Given the description of an element on the screen output the (x, y) to click on. 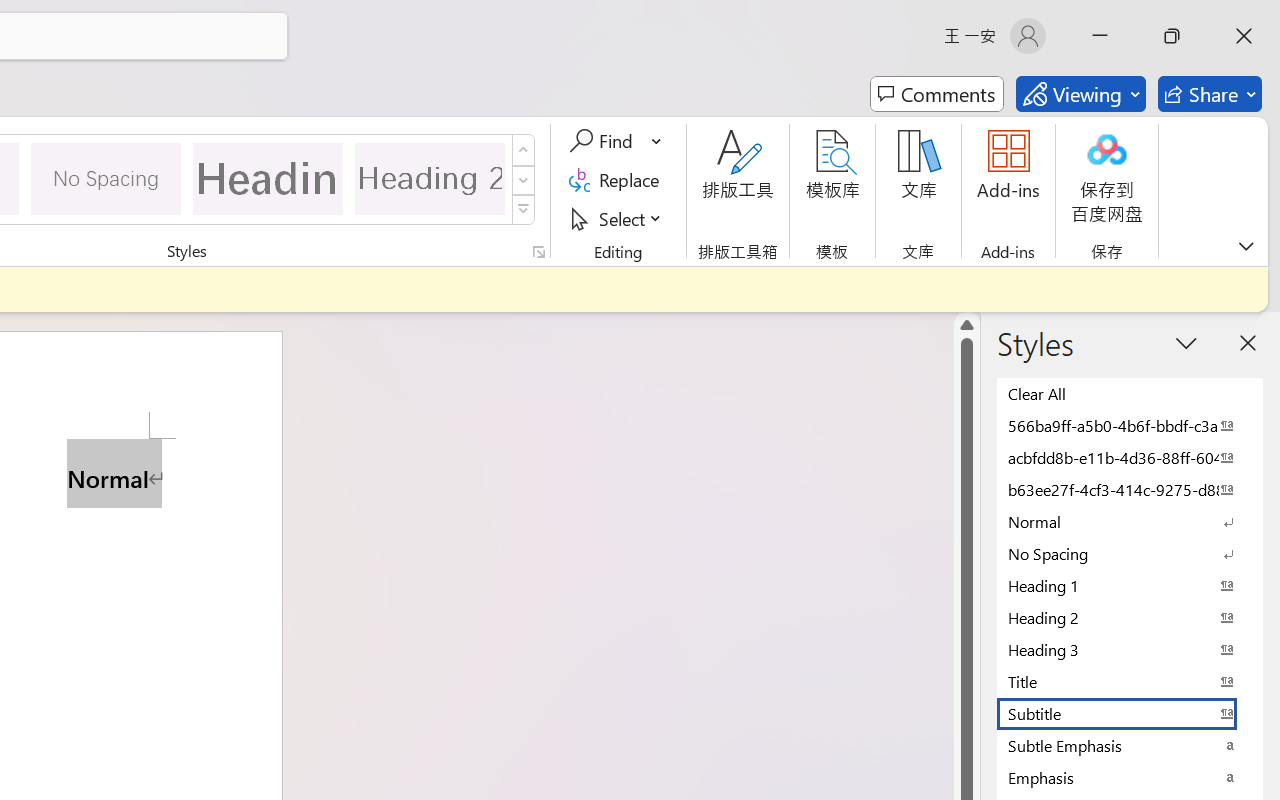
b63ee27f-4cf3-414c-9275-d88e3f90795e (1130, 489)
Clear All (1130, 393)
Ribbon Display Options (1246, 245)
Normal (1130, 521)
Heading 2 (429, 178)
Styles... (538, 252)
